Given the description of an element on the screen output the (x, y) to click on. 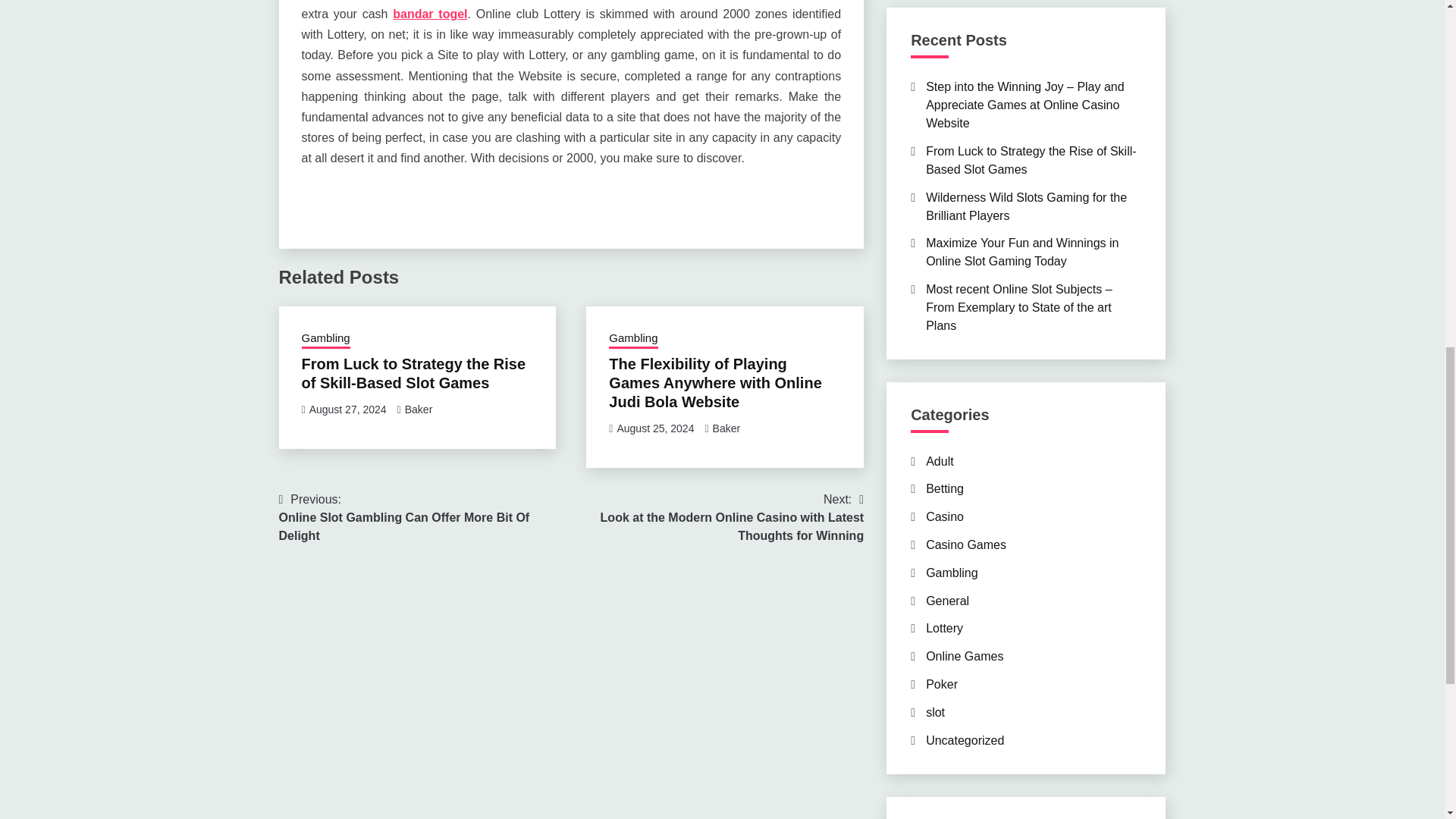
From Luck to Strategy the Rise of Skill-Based Slot Games (1030, 160)
Gambling (325, 339)
From Luck to Strategy the Rise of Skill-Based Slot Games (413, 373)
August 25, 2024 (654, 428)
Betting (944, 488)
bandar togel (430, 13)
Gambling (425, 517)
